Given the description of an element on the screen output the (x, y) to click on. 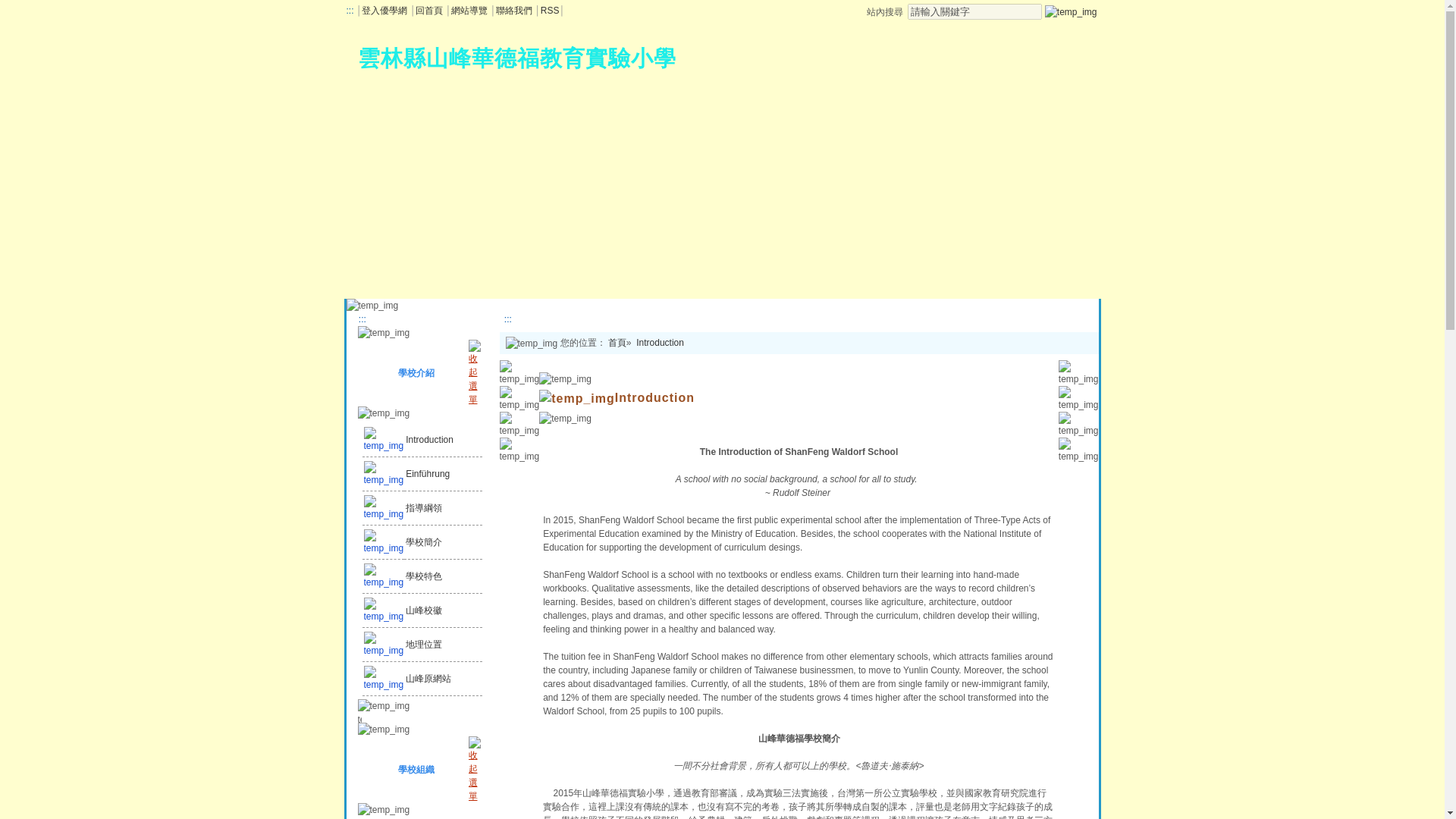
Introduction (428, 364)
 ::: (507, 318)
 ::: (361, 318)
RSS (549, 9)
RSS (549, 9)
Introduction (401, 364)
Introduction (632, 344)
